Given the description of an element on the screen output the (x, y) to click on. 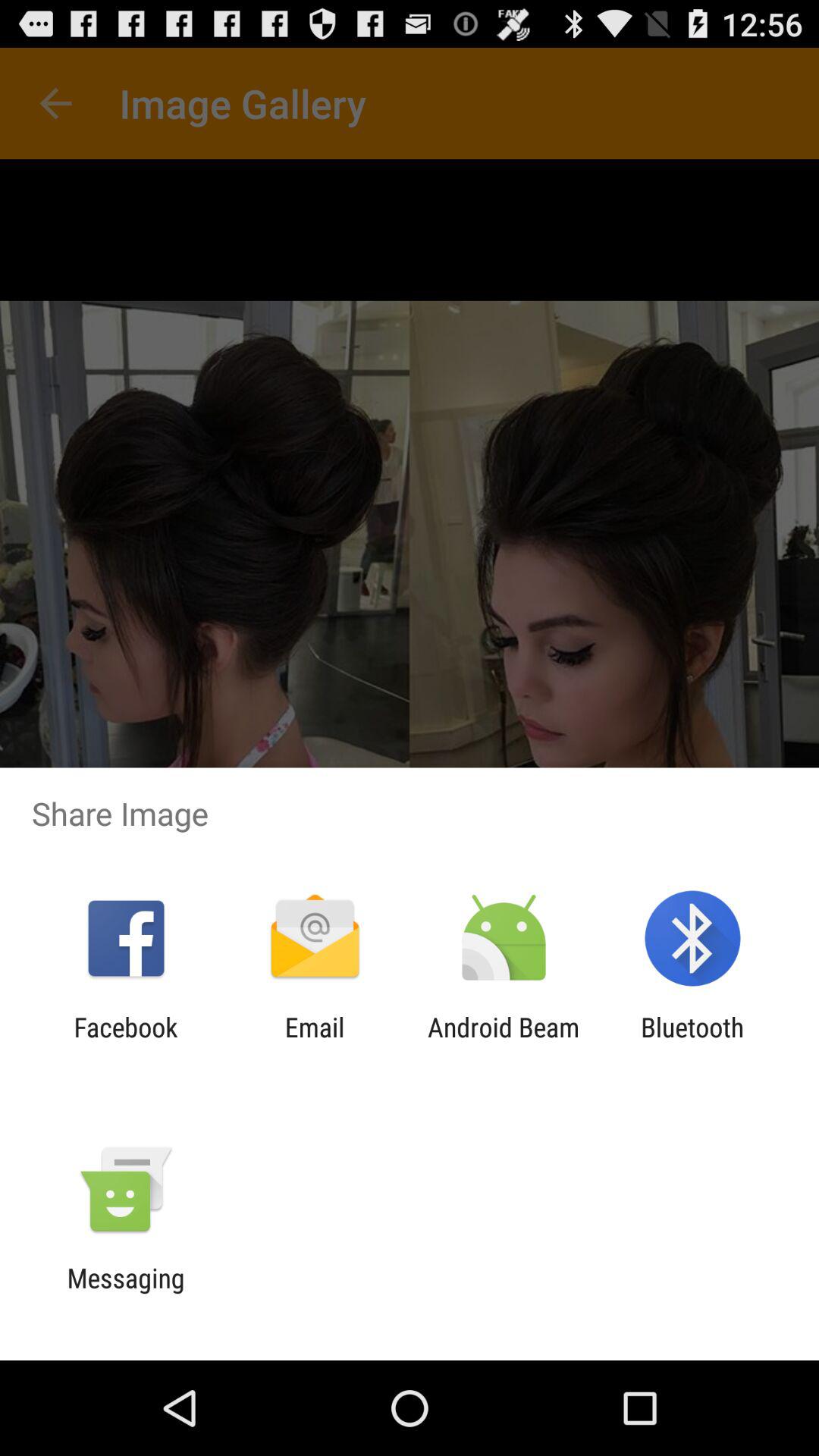
open item next to the email icon (125, 1042)
